Given the description of an element on the screen output the (x, y) to click on. 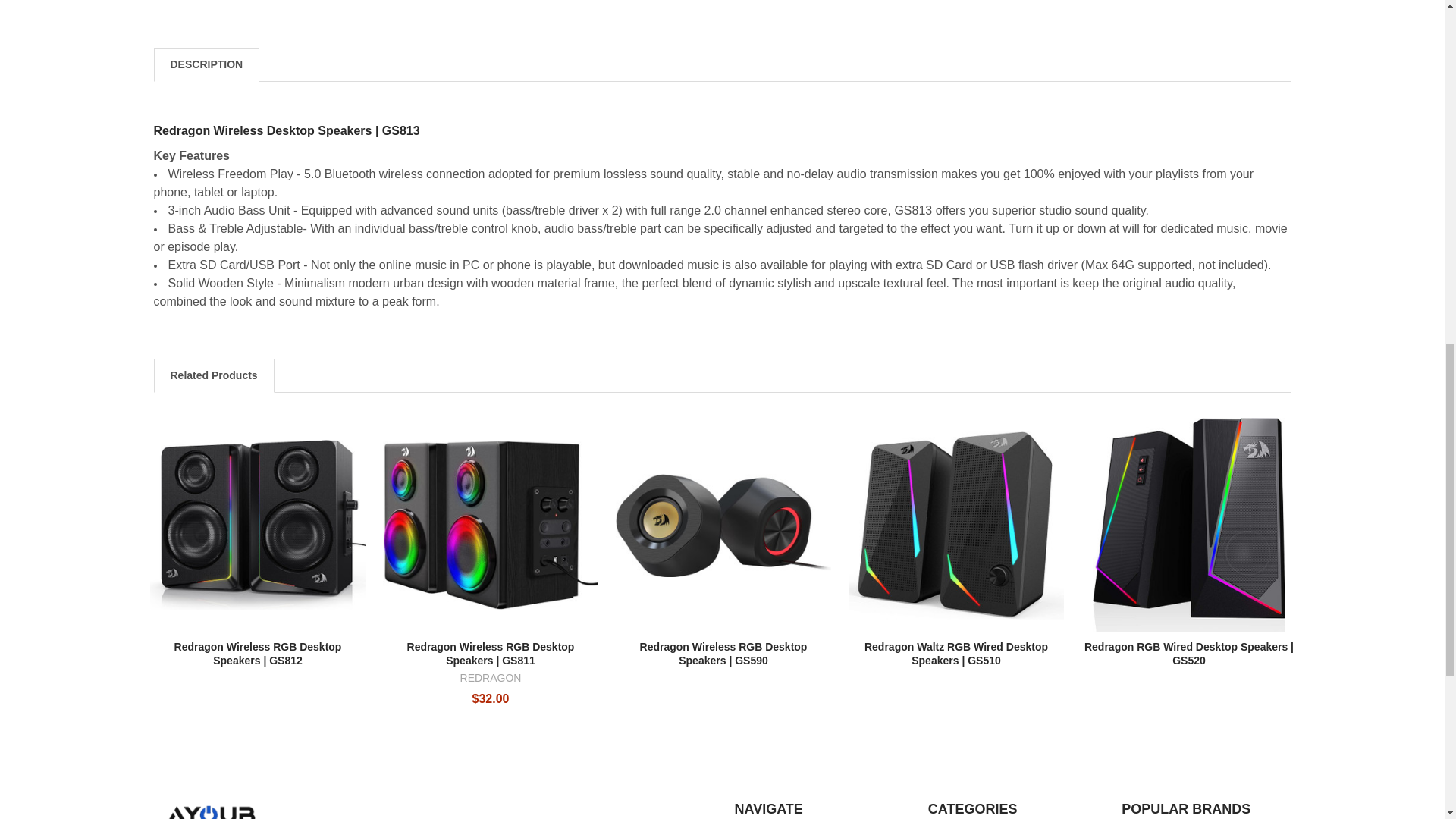
AYOUB COMPUTERS (209, 810)
